Given the description of an element on the screen output the (x, y) to click on. 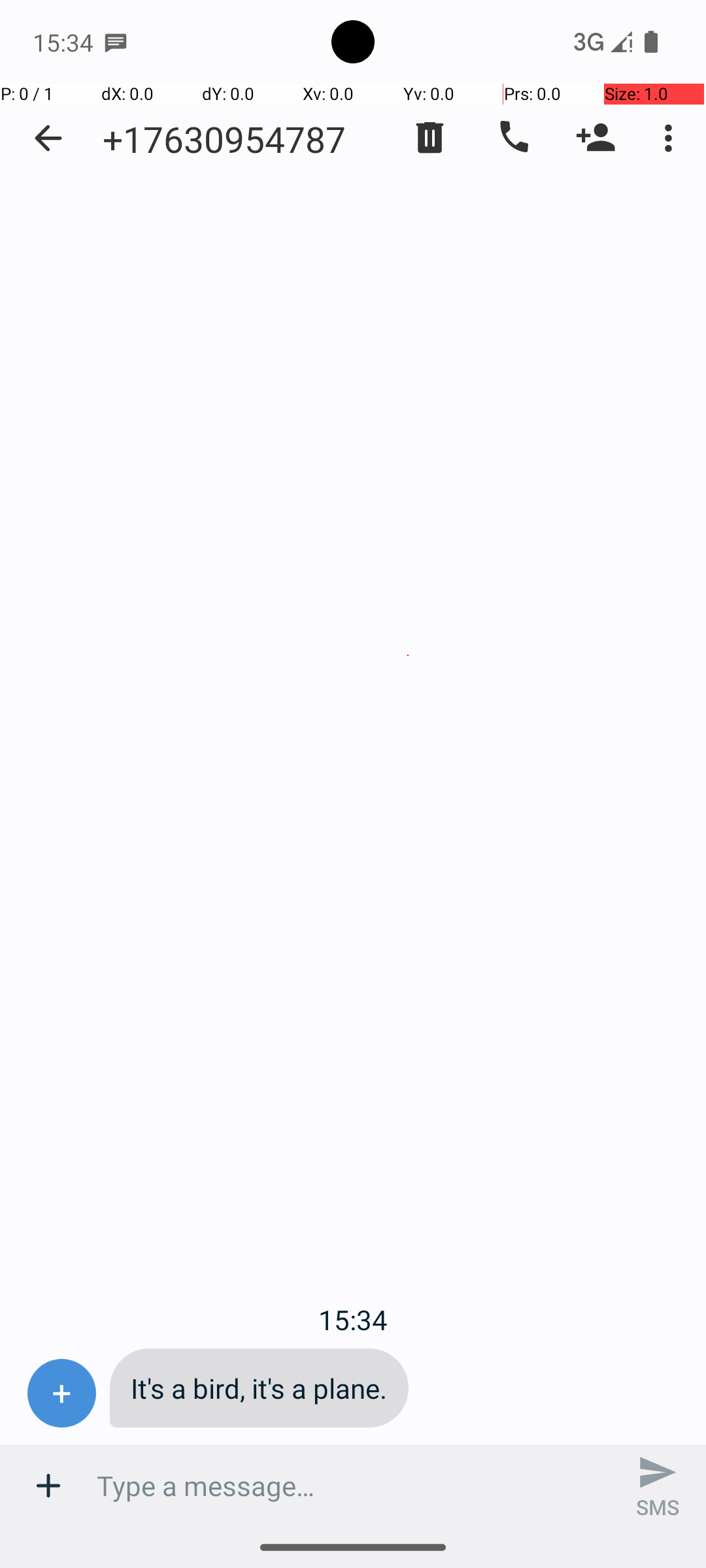
+17630954787 Element type: android.widget.TextView (223, 138)
It's a bird, it's a plane. Element type: android.widget.TextView (258, 1387)
